Given the description of an element on the screen output the (x, y) to click on. 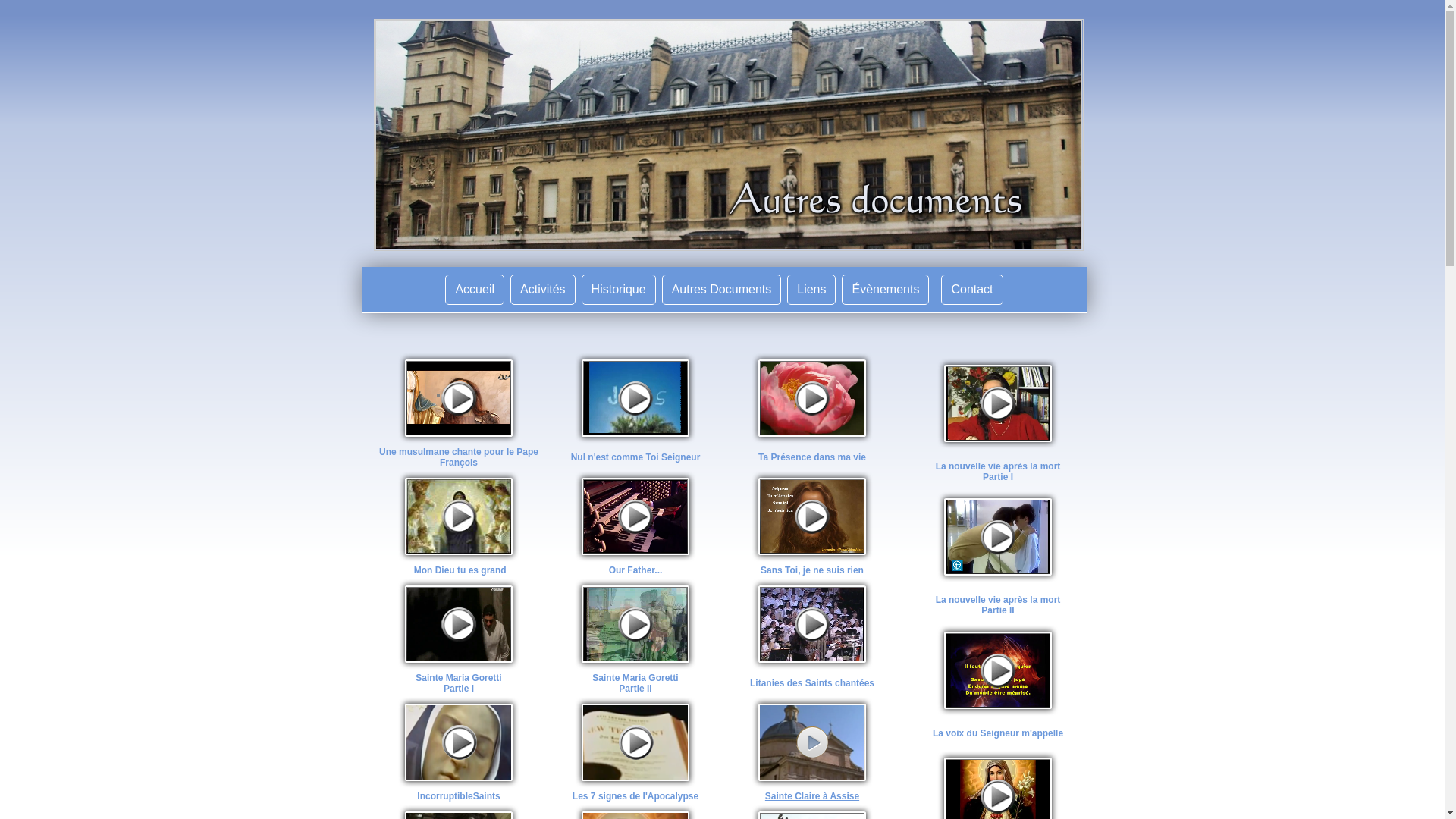
Contact Element type: text (971, 289)
Liens Element type: text (811, 289)
Accueil Element type: text (474, 289)
Historique Element type: text (618, 289)
Autres Documents Element type: text (721, 289)
